Given the description of an element on the screen output the (x, y) to click on. 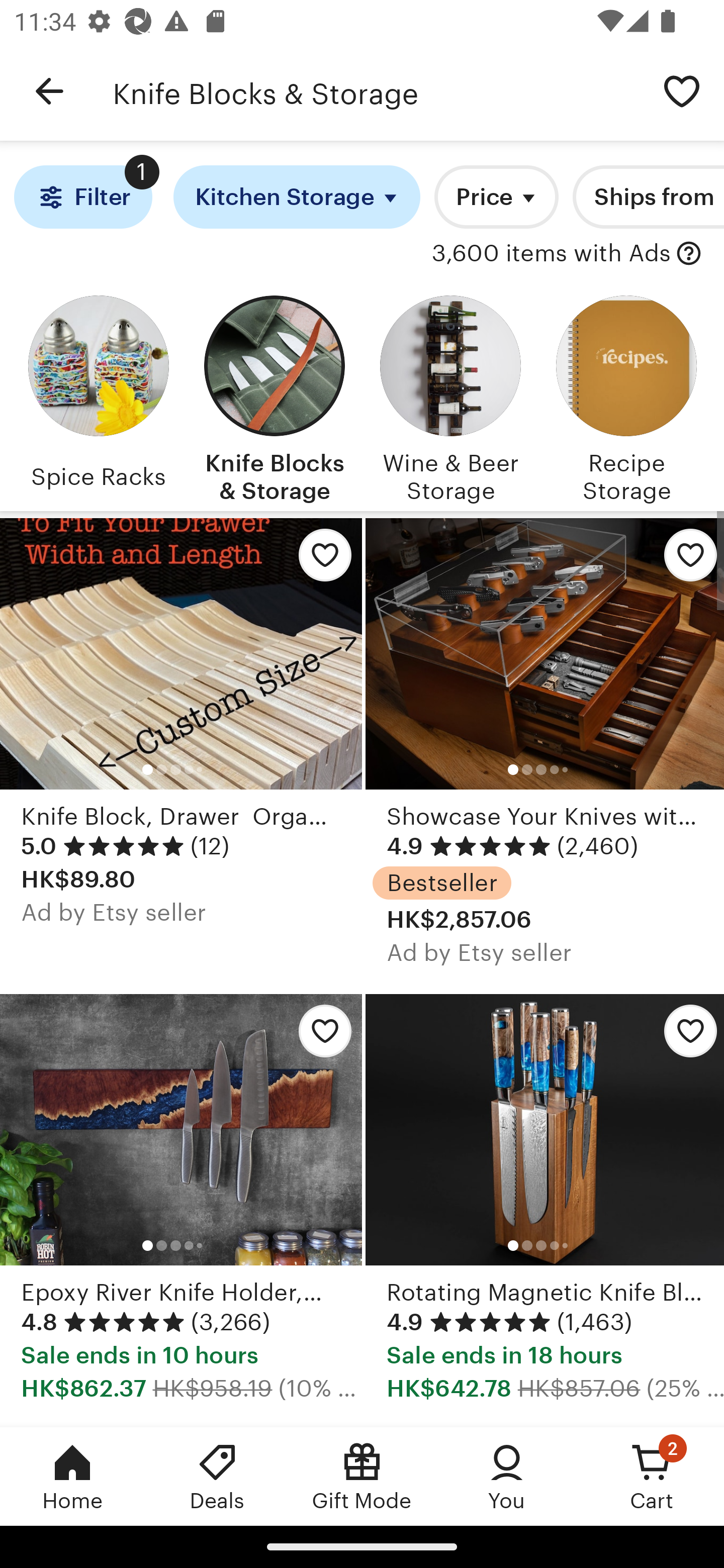
Navigate up (49, 91)
Save search (681, 90)
Knife Blocks & Storage (375, 91)
Filter (82, 197)
Kitchen Storage (296, 197)
Price (496, 197)
Ships from (648, 197)
3,600 items with Ads (551, 253)
with Ads (688, 253)
Spice Racks (97, 395)
Knife Blocks & Storage (273, 395)
Wine & Beer Storage (449, 395)
Recipe Storage (625, 395)
Deals (216, 1475)
Gift Mode (361, 1475)
You (506, 1475)
Cart, 2 new notifications Cart (651, 1475)
